Given the description of an element on the screen output the (x, y) to click on. 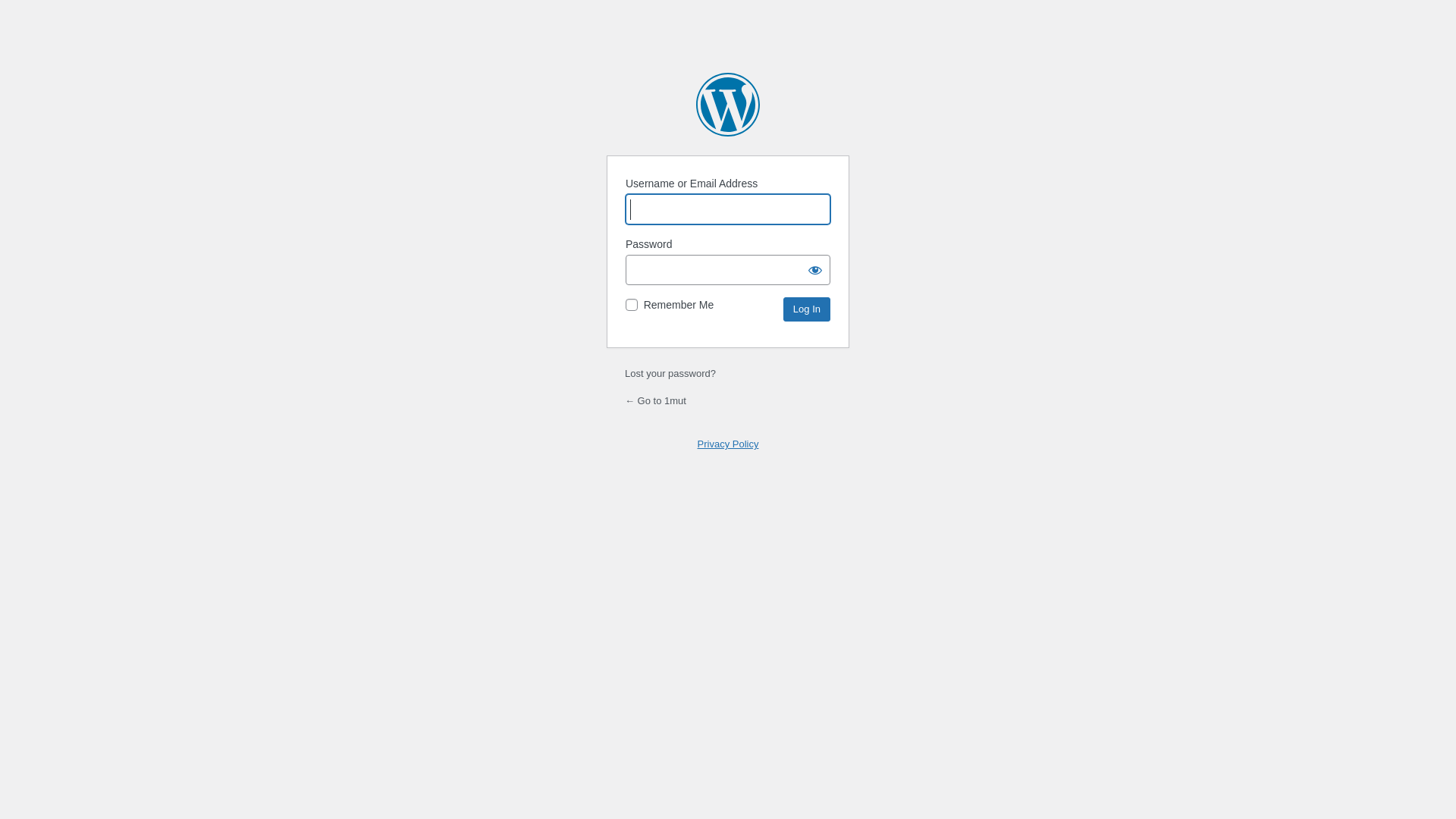
Log In Element type: text (806, 309)
Privacy Policy Element type: text (728, 443)
Lost your password? Element type: text (669, 373)
Powered by WordPress Element type: text (727, 104)
